Given the description of an element on the screen output the (x, y) to click on. 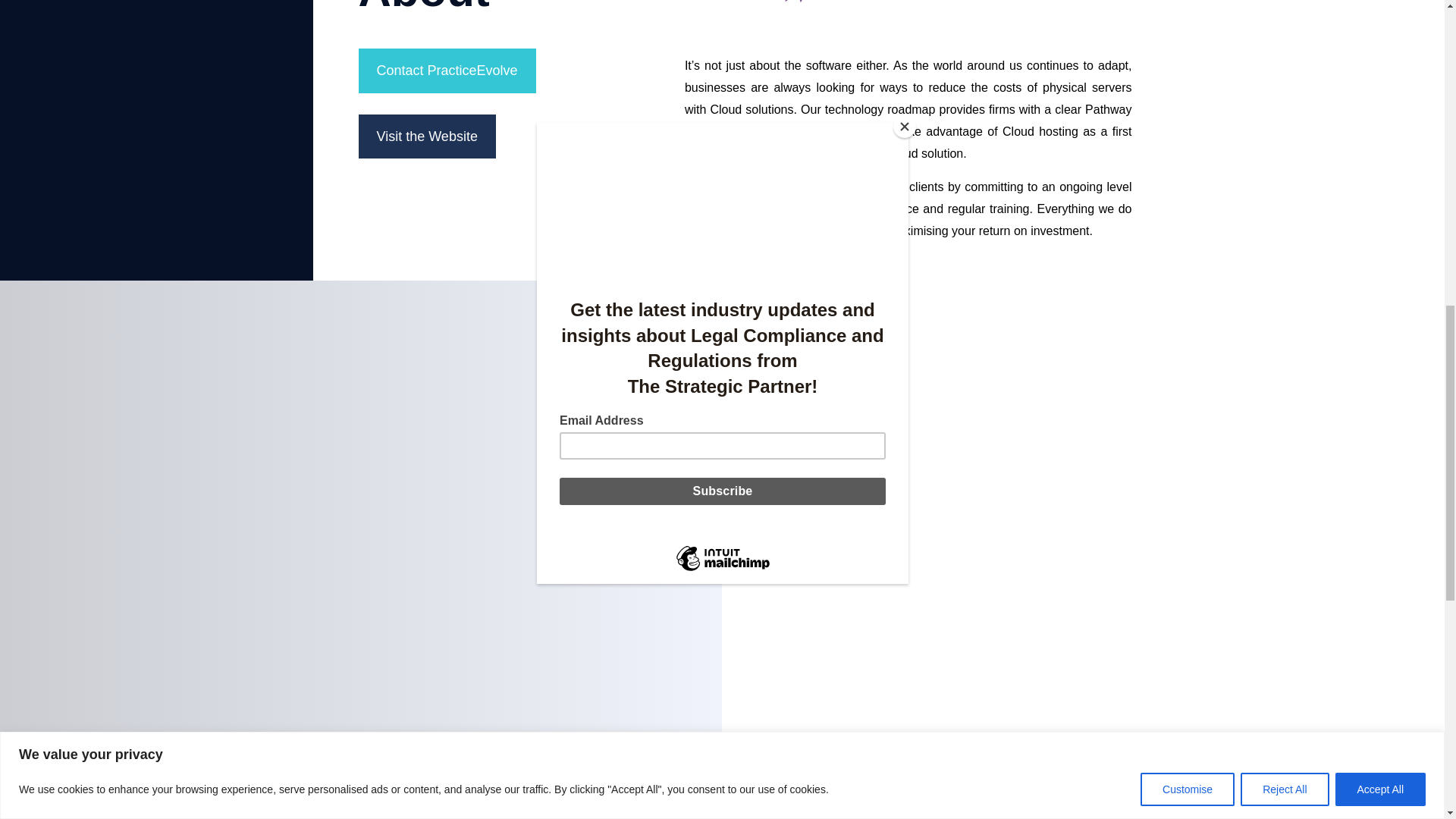
PracticeEvolve Logo Transparent (907, 17)
